Given the description of an element on the screen output the (x, y) to click on. 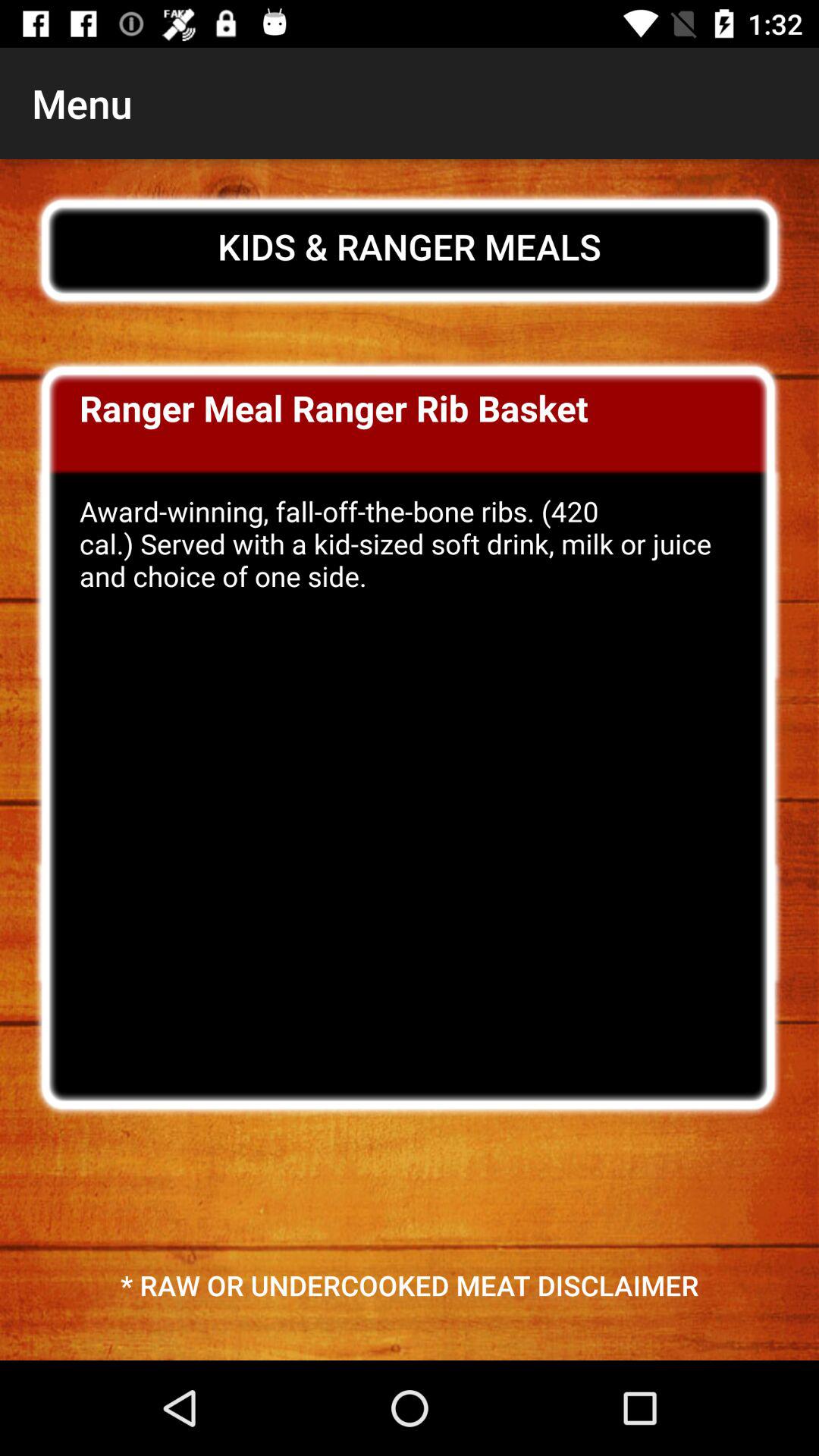
turn on the kids & ranger meals icon (409, 246)
